Given the description of an element on the screen output the (x, y) to click on. 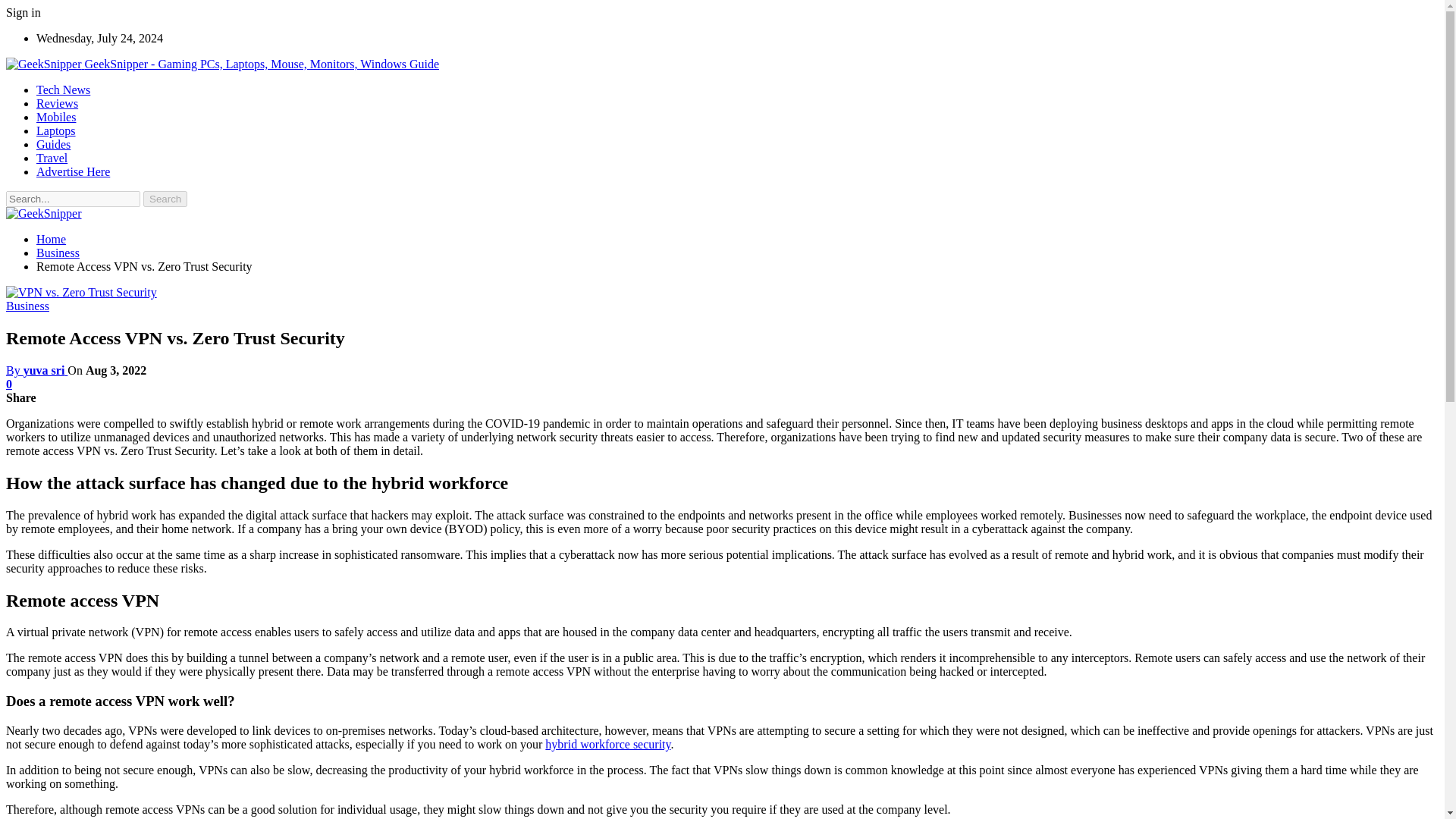
Search (164, 198)
Home (50, 238)
Browse Author Articles (35, 369)
Mobiles (55, 116)
Business (27, 305)
Travel (51, 157)
hybrid workforce security (606, 744)
Reviews (57, 103)
Laptops (55, 130)
Sign in (22, 11)
Tech News (63, 89)
Search for: (72, 198)
Guides (52, 144)
Business (58, 252)
